Given the description of an element on the screen output the (x, y) to click on. 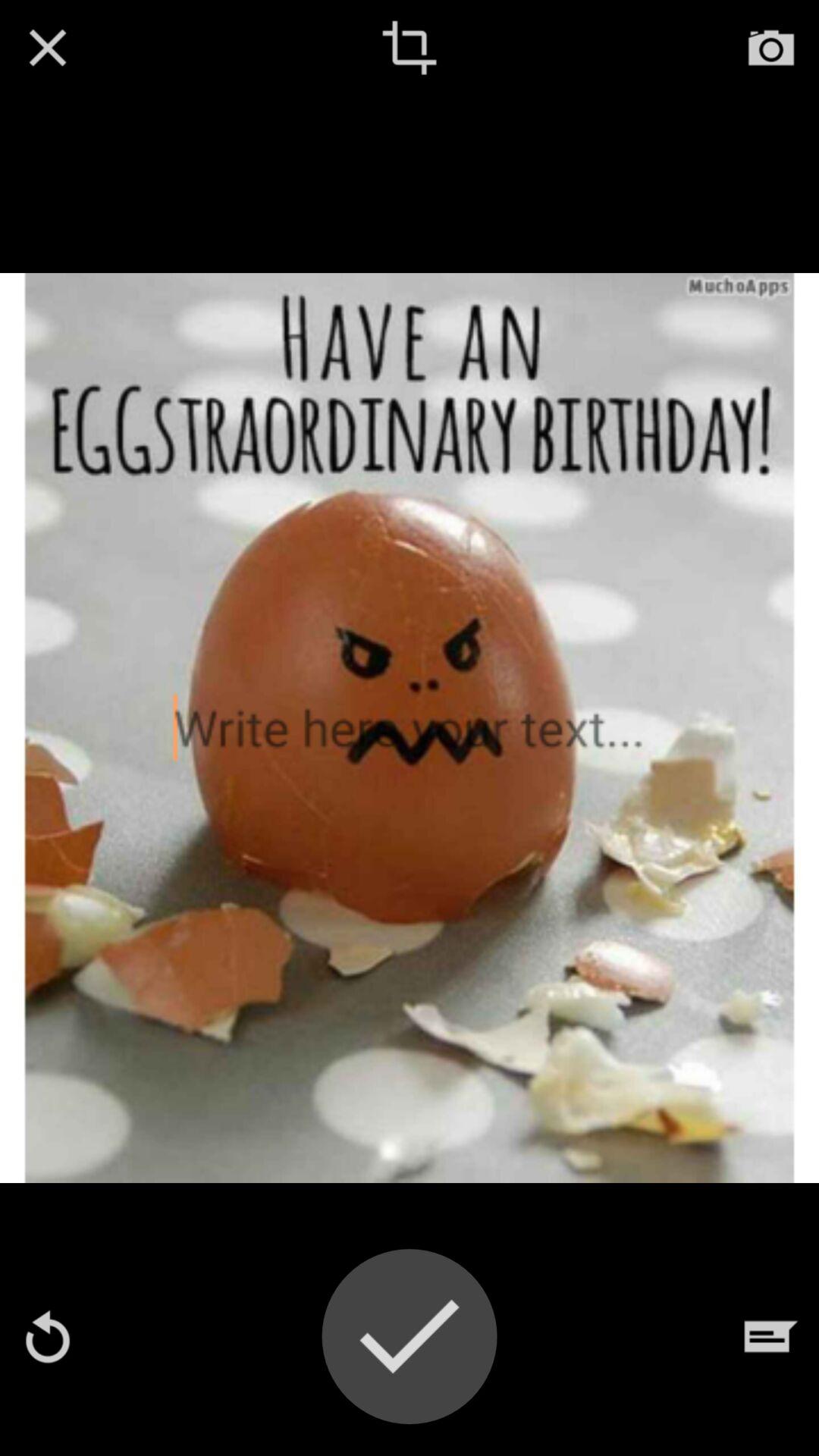
go to camera (771, 47)
